Given the description of an element on the screen output the (x, y) to click on. 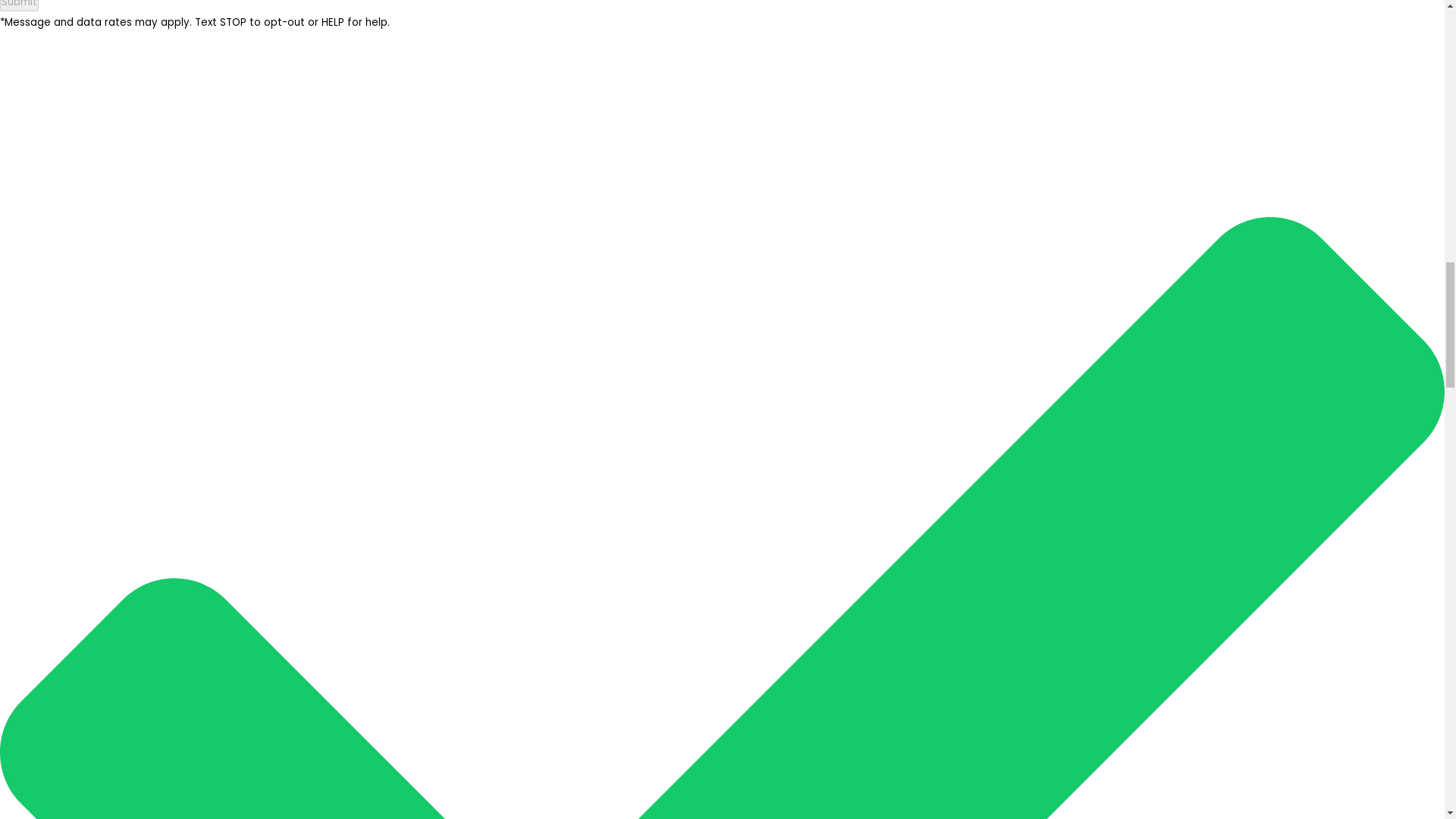
Submit (19, 5)
